Given the description of an element on the screen output the (x, y) to click on. 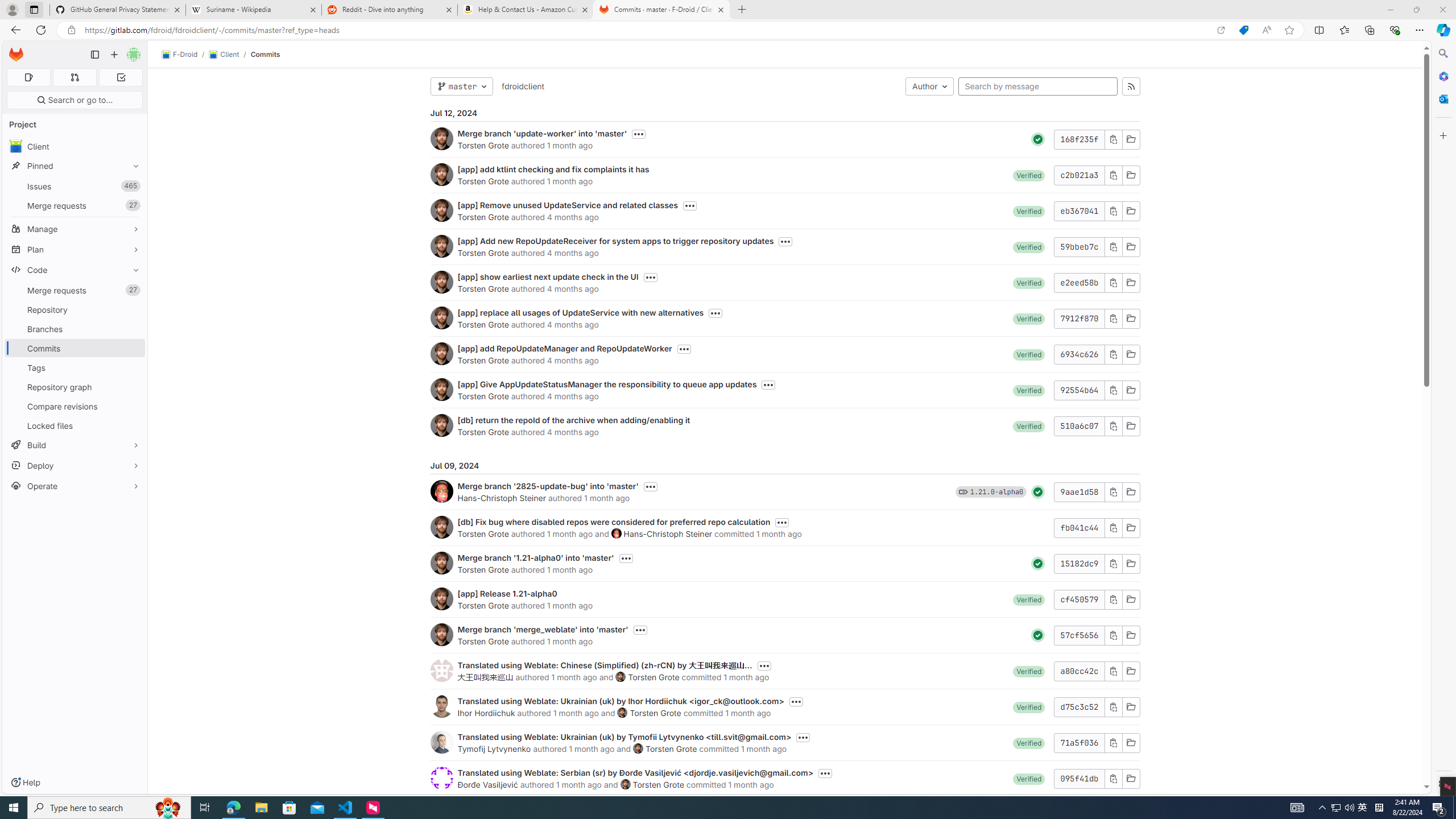
Issues465 (74, 185)
Copilot (Ctrl+Shift+.) (1442, 29)
Address and search bar (647, 29)
Microsoft Edge - 1 running window (233, 807)
To-Do list 0 (120, 76)
Merge branch 'merge_weblate' into 'master' (542, 628)
Add this page to favorites (Ctrl+D) (1289, 29)
Toggle commit description (825, 773)
Search by message (1038, 85)
Compare revisions (74, 406)
Pin Compare revisions (132, 406)
Client (223, 54)
Microsoft 365 (1442, 76)
